Given the description of an element on the screen output the (x, y) to click on. 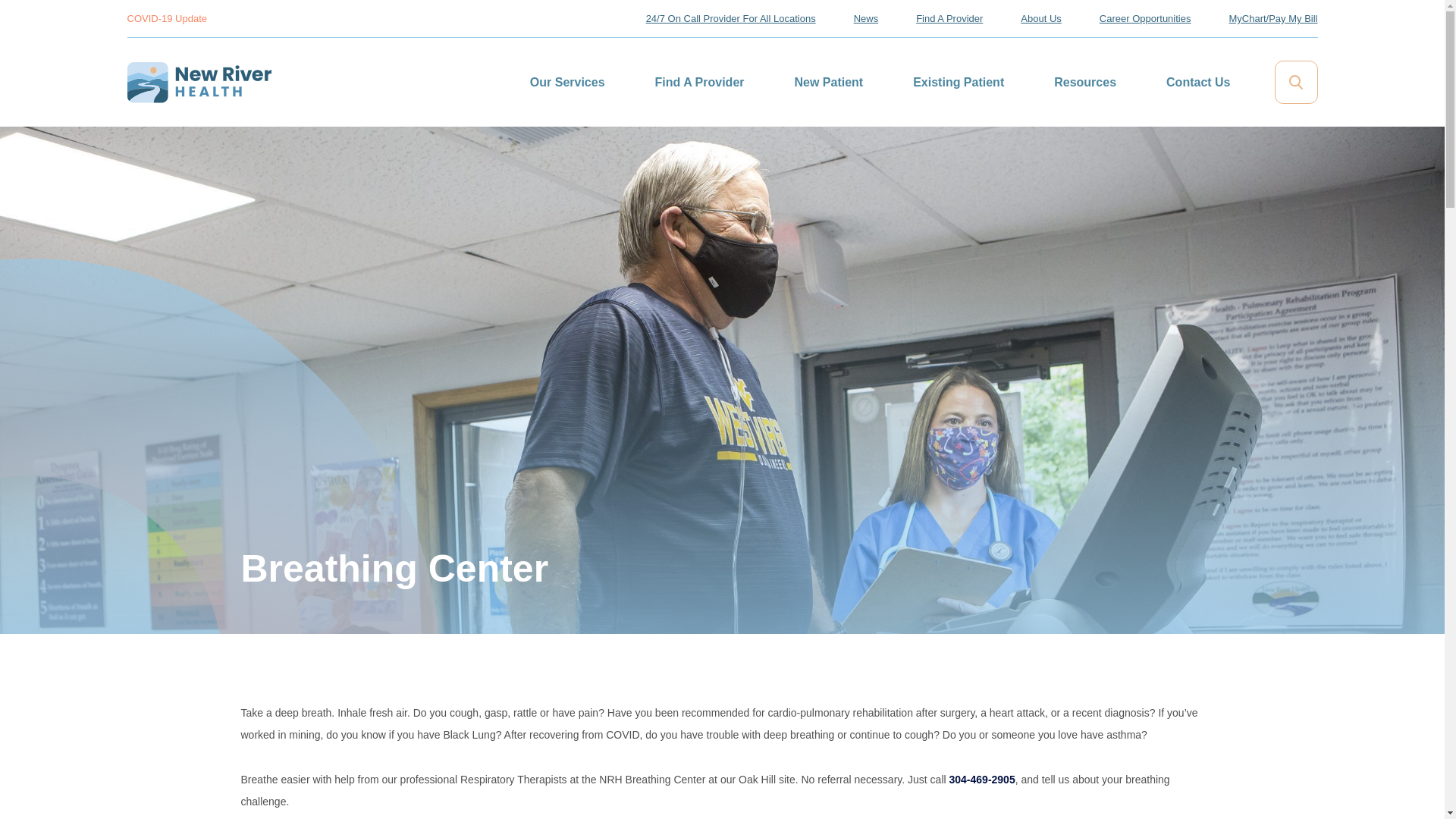
Find A Provider (700, 82)
New River Health (199, 82)
Career Opportunities (1145, 18)
Our Services (567, 82)
News (866, 18)
Contact Us (1198, 82)
New Patient (829, 82)
304-469-2905 (981, 779)
Resources (1085, 82)
Find A Provider (948, 18)
COVID-19 Update (168, 17)
COVID-19 Update (168, 17)
About Us (1040, 18)
Existing Patient (958, 82)
